Given the description of an element on the screen output the (x, y) to click on. 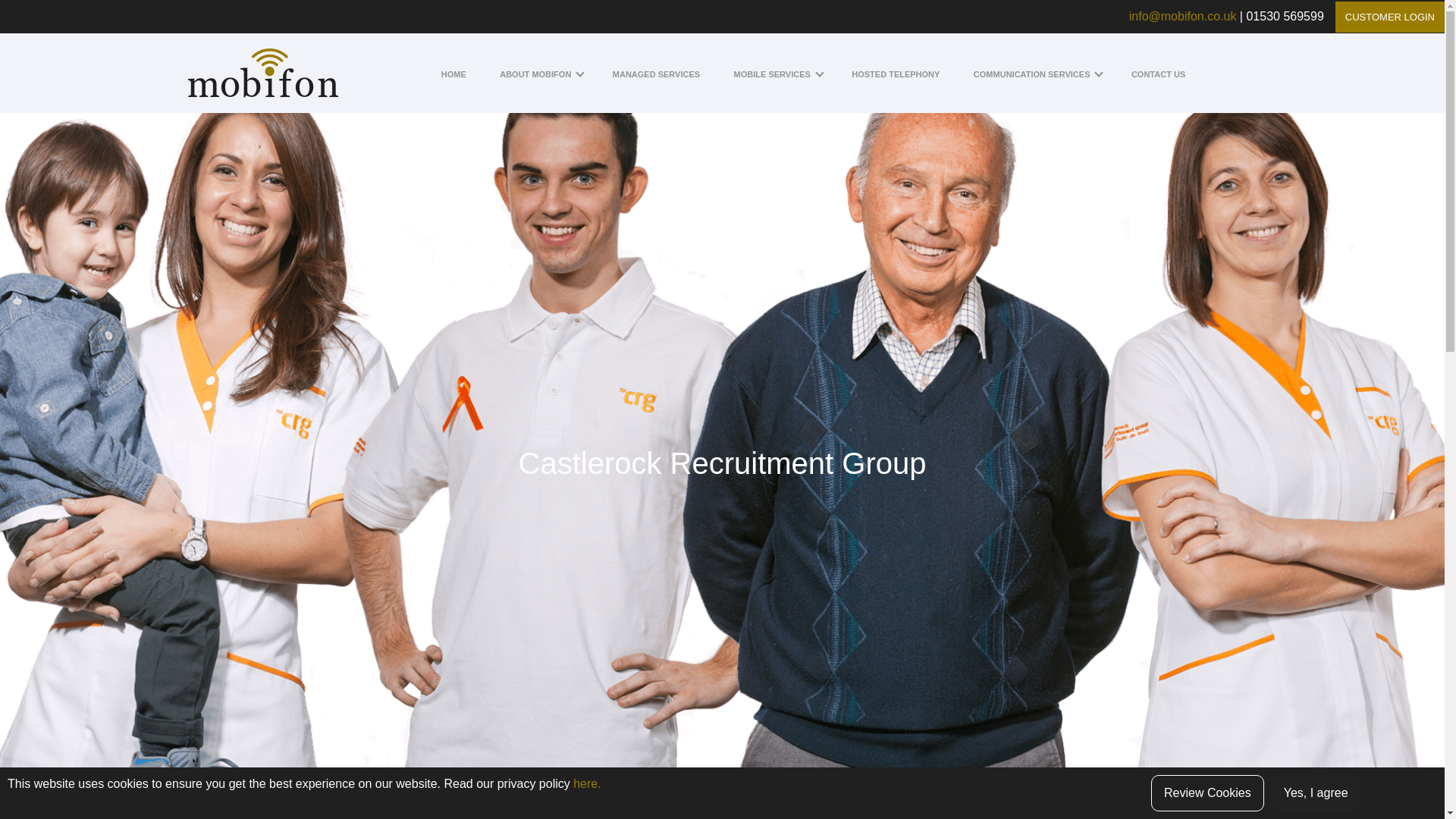
MANAGED SERVICES (656, 73)
here. (586, 783)
Review Cookies (1207, 792)
MOBILE SERVICES (775, 73)
Yes, I agree (1315, 792)
COMMUNICATION SERVICES (1035, 73)
CONTACT US (1158, 73)
HOSTED TELEPHONY (895, 73)
HOME (453, 73)
ABOUT MOBIFON (538, 73)
